Given the description of an element on the screen output the (x, y) to click on. 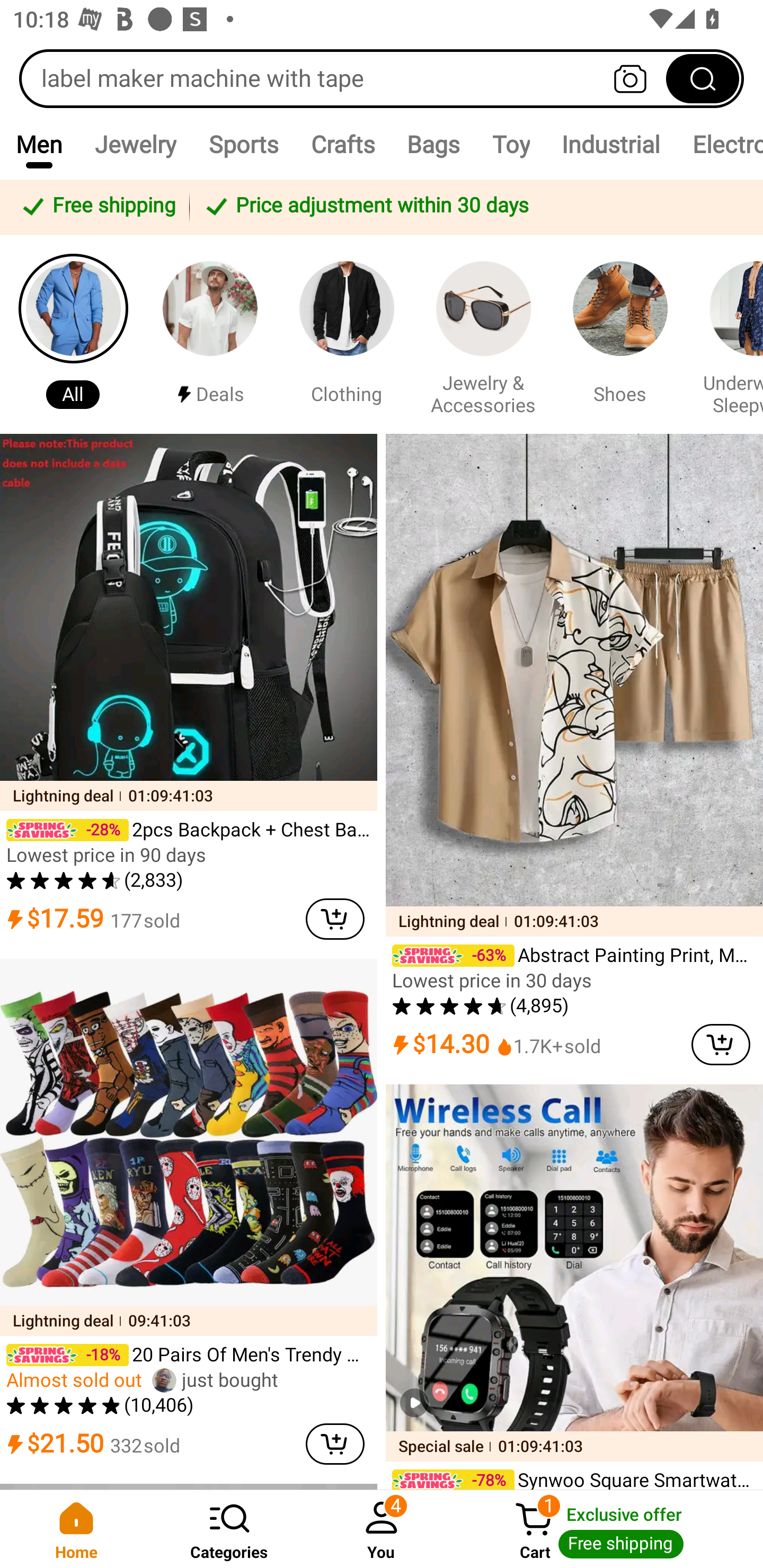
label maker machine with tape (381, 78)
Men (39, 144)
Jewelry (135, 144)
Sports (243, 144)
Crafts (342, 144)
Bags (433, 144)
Toy (510, 144)
Industrial (610, 144)
Free shipping (97, 206)
Price adjustment within 30 days (472, 206)
All (72, 333)
￼￼Deals (209, 333)
Clothing (346, 333)
Jewelry & Accessories (482, 333)
Shoes (619, 333)
cart delete (334, 918)
cart delete (720, 1043)
cart delete (334, 1443)
Home (76, 1528)
Categories (228, 1528)
You 4 You (381, 1528)
Cart 1 Cart Exclusive offer (610, 1528)
